Given the description of an element on the screen output the (x, y) to click on. 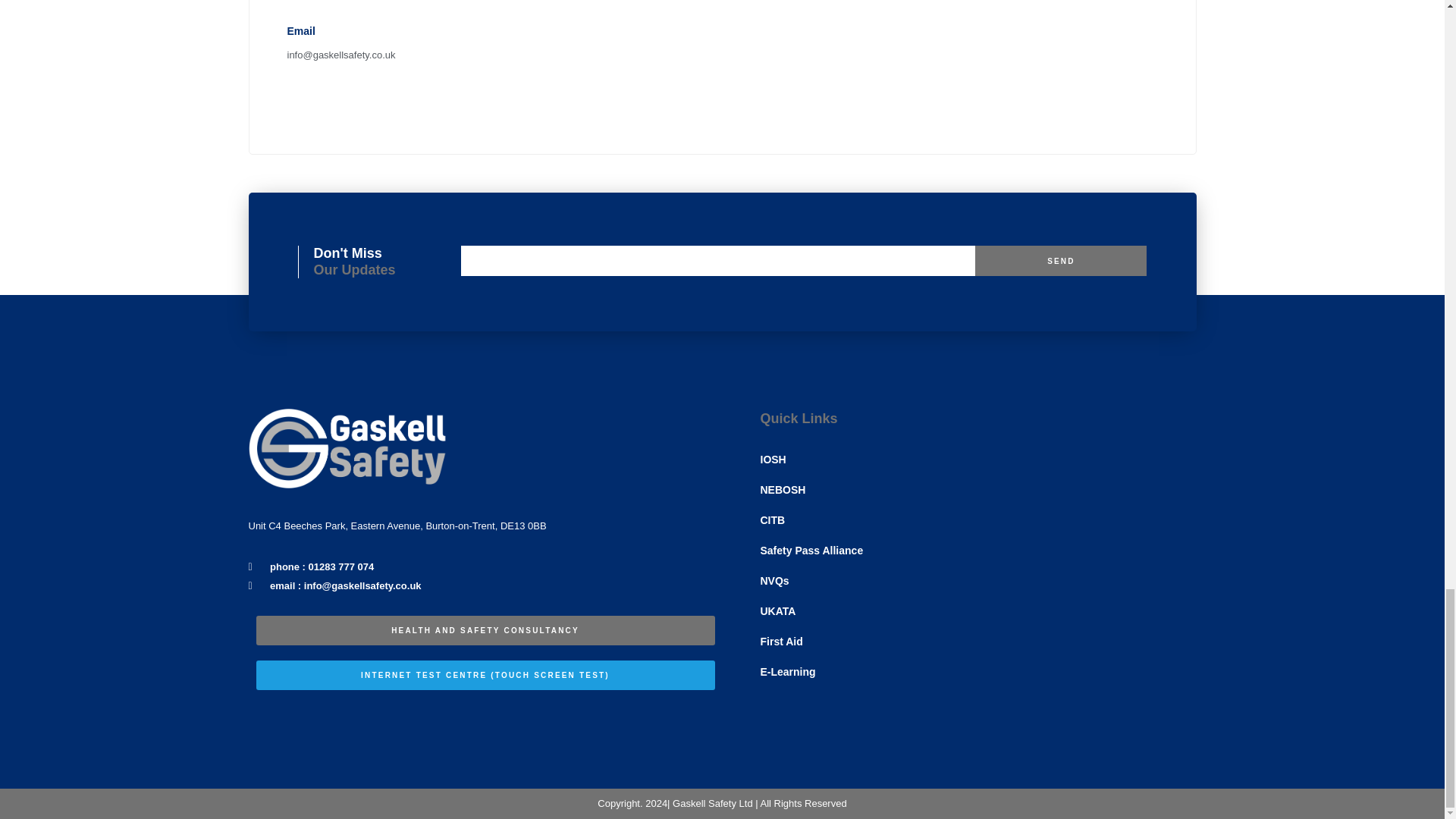
IOSH (977, 459)
SEND (1061, 260)
HEALTH AND SAFETY CONSULTANCY (485, 630)
phone : 01283 777 074 (485, 566)
Gaskell Saftey (876, 65)
